Given the description of an element on the screen output the (x, y) to click on. 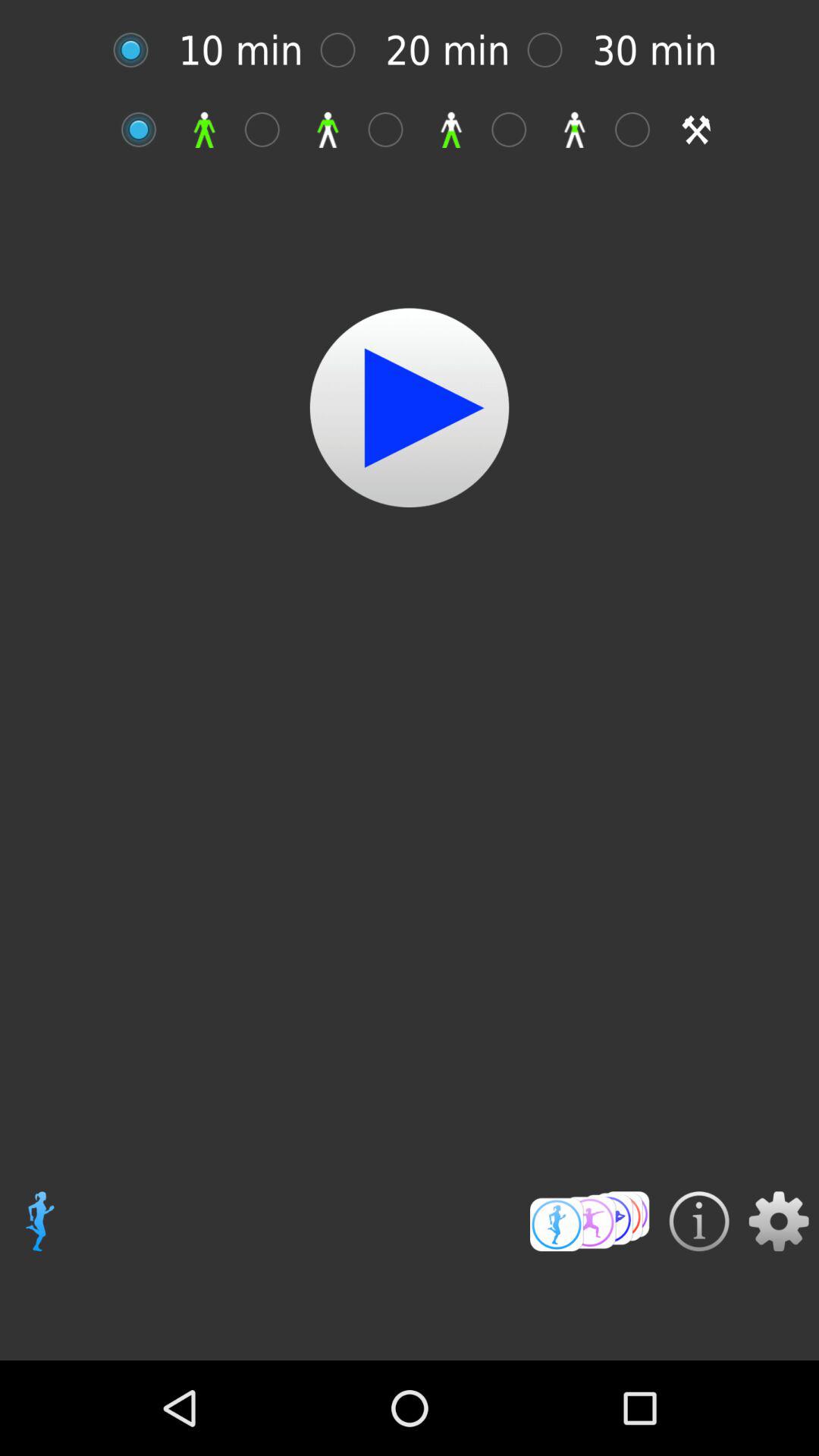
toggle different time (552, 49)
